Given the description of an element on the screen output the (x, y) to click on. 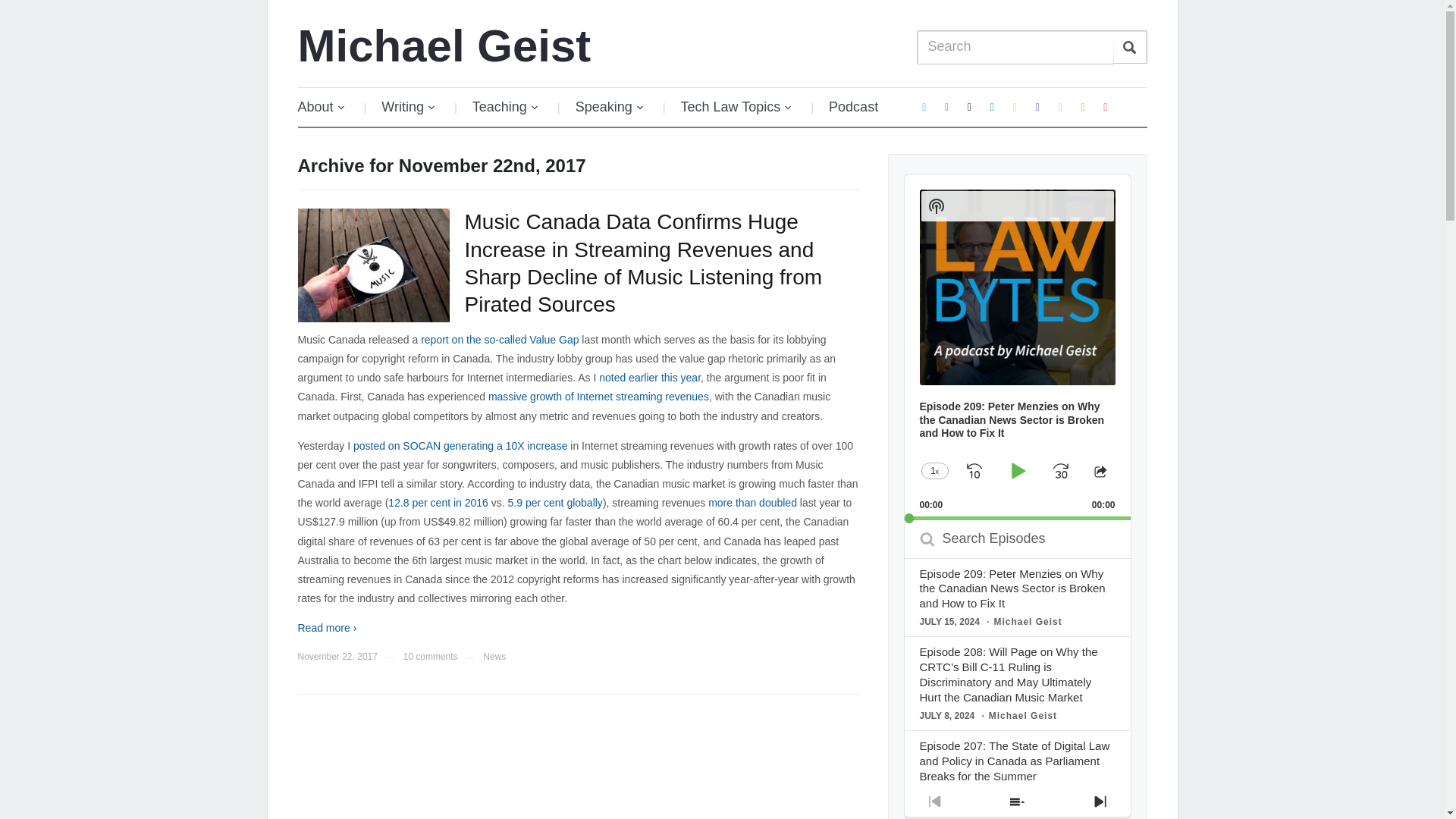
Default Label (991, 106)
Teaching (505, 106)
mastodon (946, 106)
Michael Geist (444, 45)
Tech Law Topics (736, 106)
Speaking (609, 106)
Default Label (1059, 106)
Podcast (853, 106)
Search (1130, 46)
Default Label (1105, 106)
Facebook (1036, 106)
Default Label (969, 106)
Writing (408, 106)
Default Label (1014, 106)
